Given the description of an element on the screen output the (x, y) to click on. 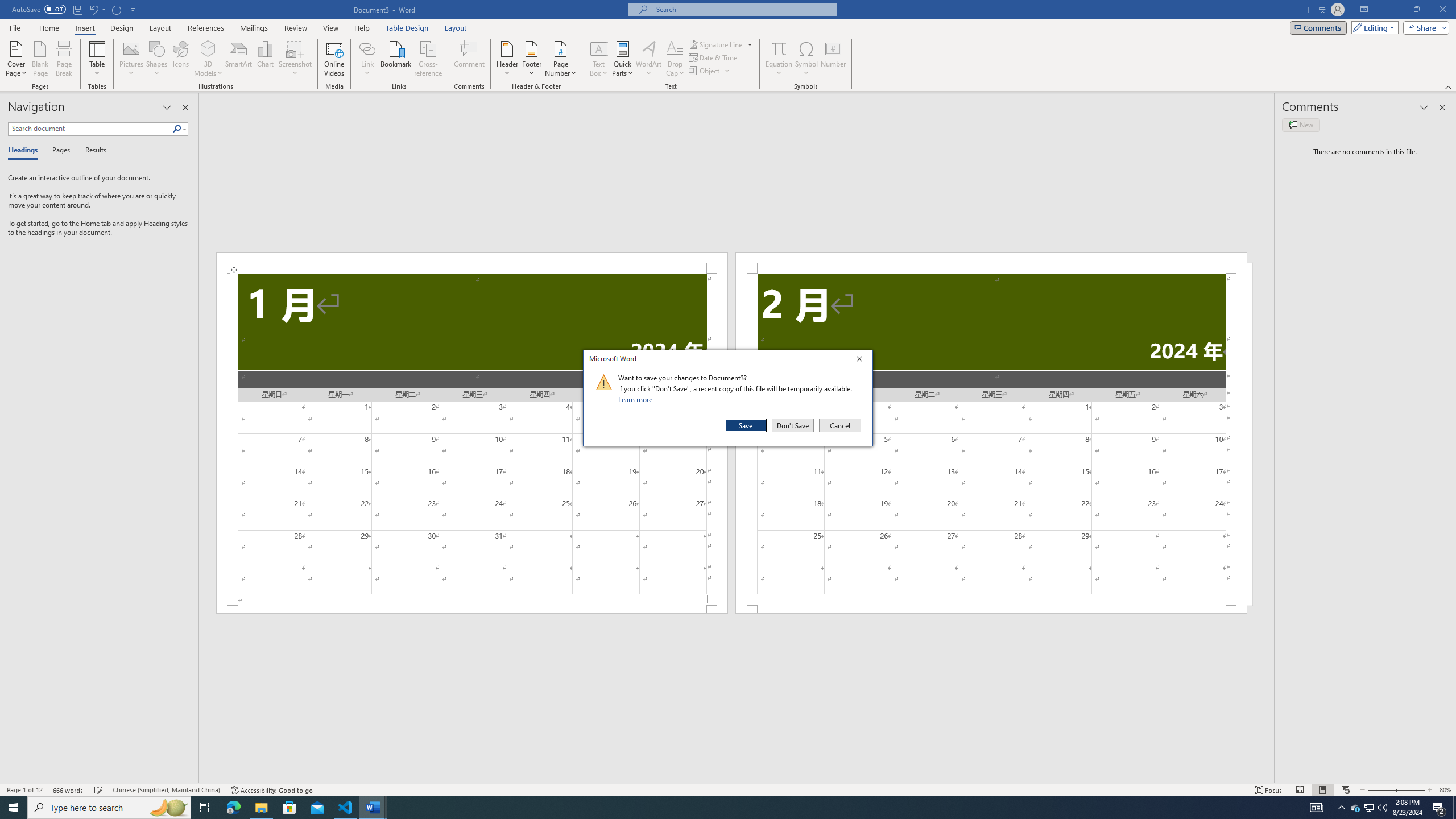
Save (746, 425)
Web Layout (1344, 790)
Chart... (265, 58)
AutomationID: 4105 (1316, 807)
Class: MsoCommandBar (728, 789)
Ribbon Display Options (1364, 9)
Search highlights icon opens search home window (167, 807)
Design (122, 28)
Word Count 666 words (68, 790)
SmartArt... (238, 58)
File Explorer - 1 running window (261, 807)
Class: NetUIScrollBar (736, 778)
New comment (1300, 124)
